Given the description of an element on the screen output the (x, y) to click on. 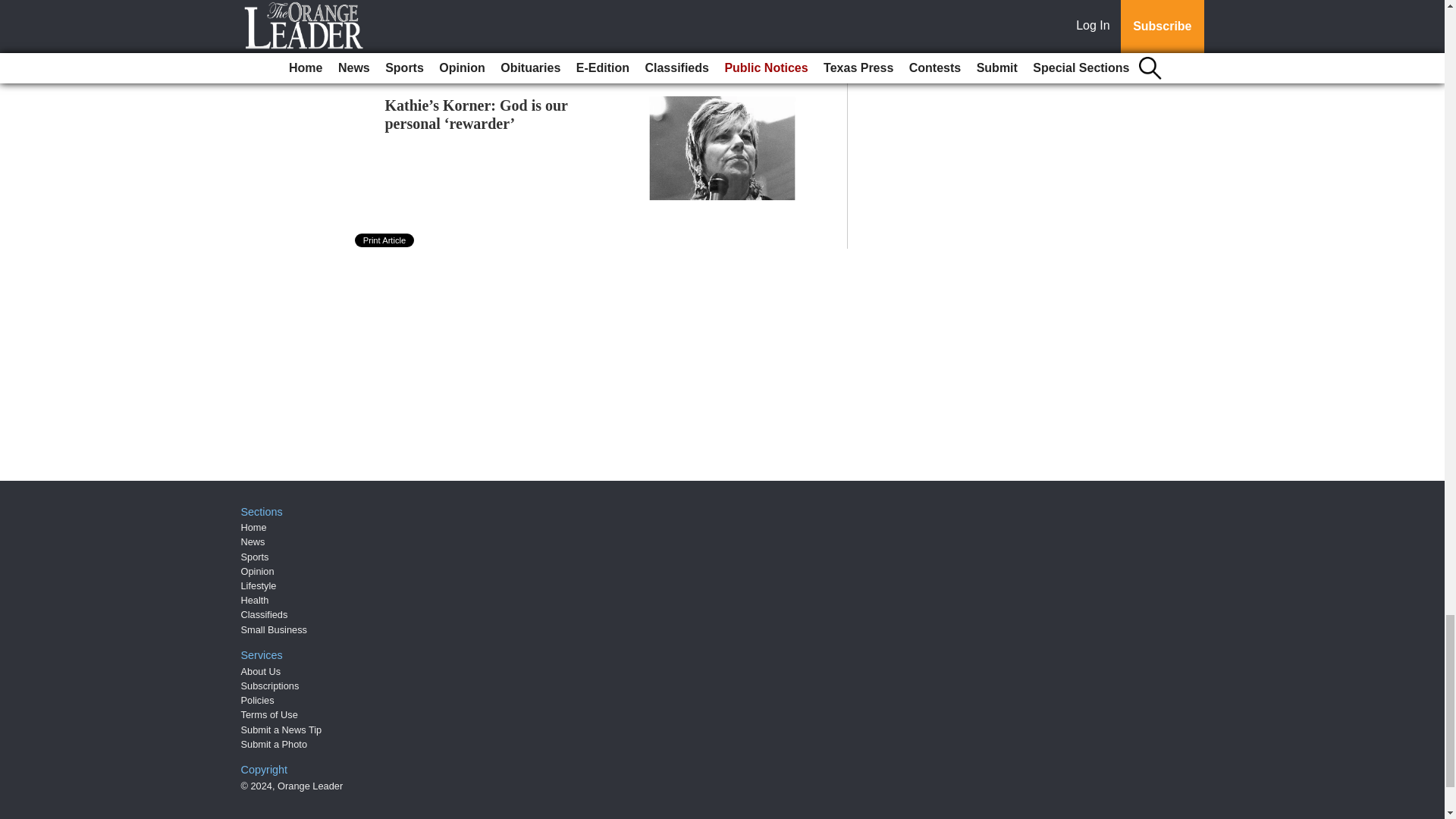
Print Article (384, 240)
